Given the description of an element on the screen output the (x, y) to click on. 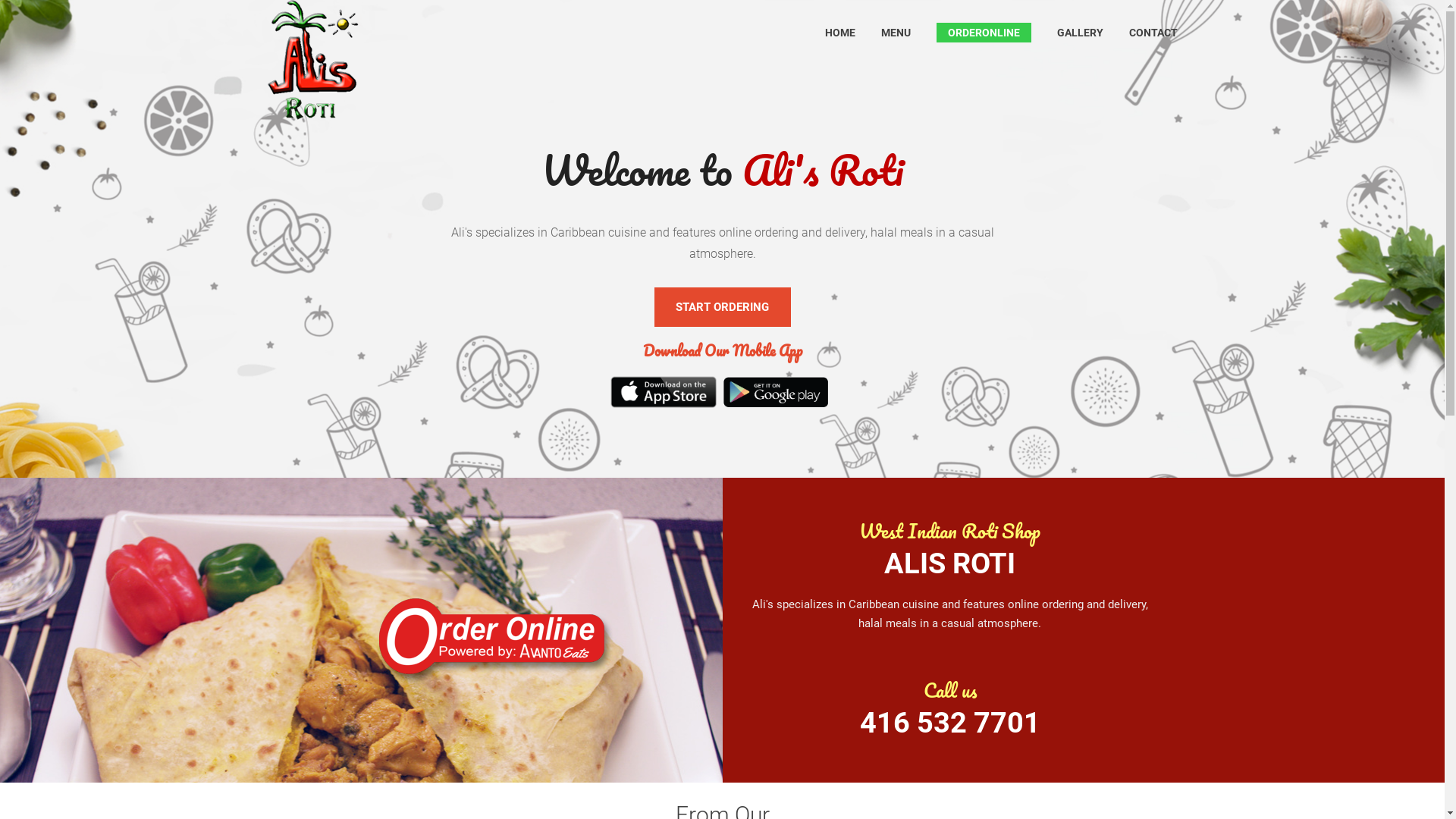
START ORDERING Element type: text (721, 306)
MENU Element type: text (895, 32)
CONTACT Element type: text (1152, 32)
HOME Element type: text (840, 32)
GALLERY Element type: text (1080, 32)
ORDERONLINE Element type: text (983, 32)
